Given the description of an element on the screen output the (x, y) to click on. 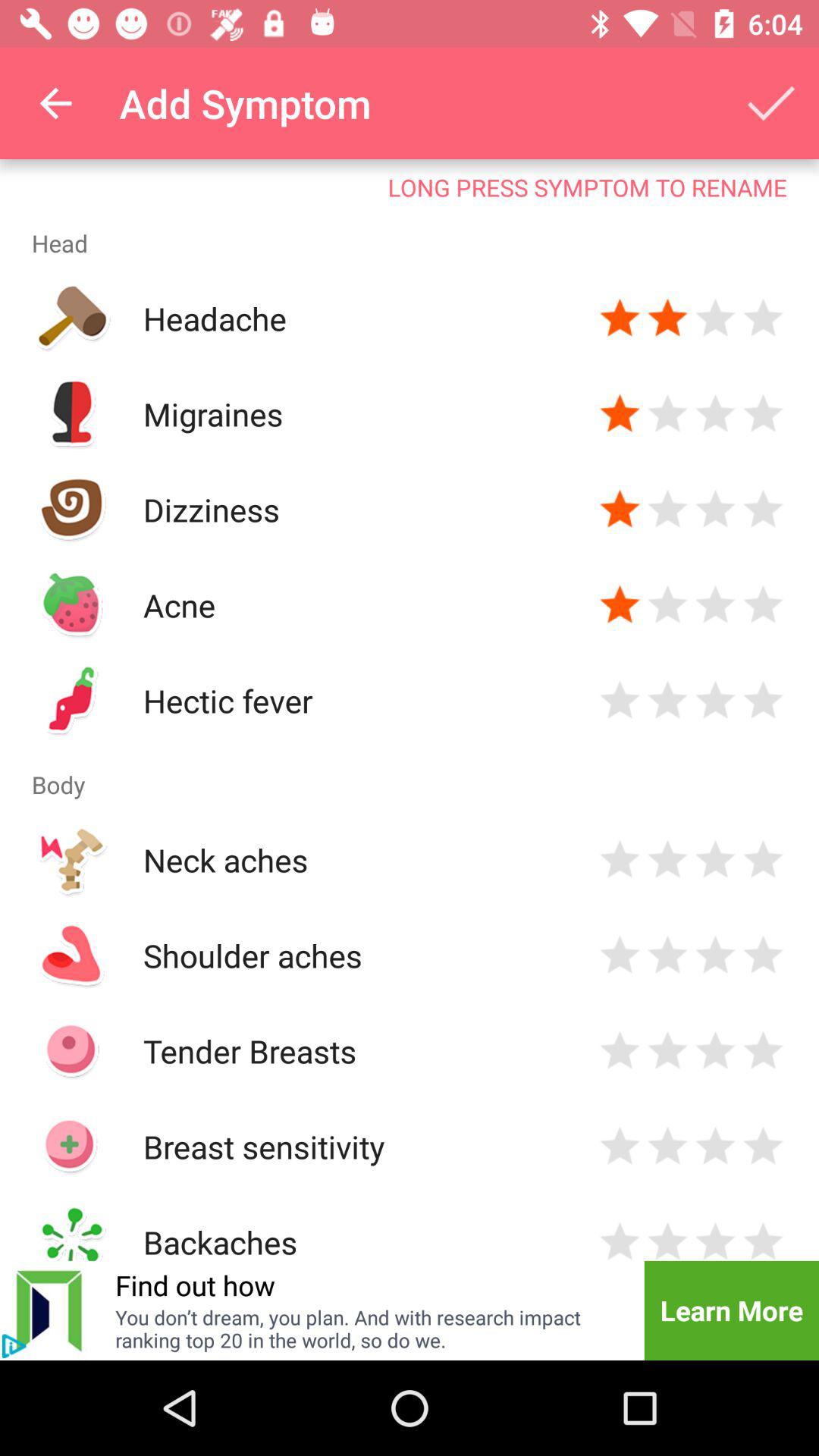
rating (763, 605)
